Given the description of an element on the screen output the (x, y) to click on. 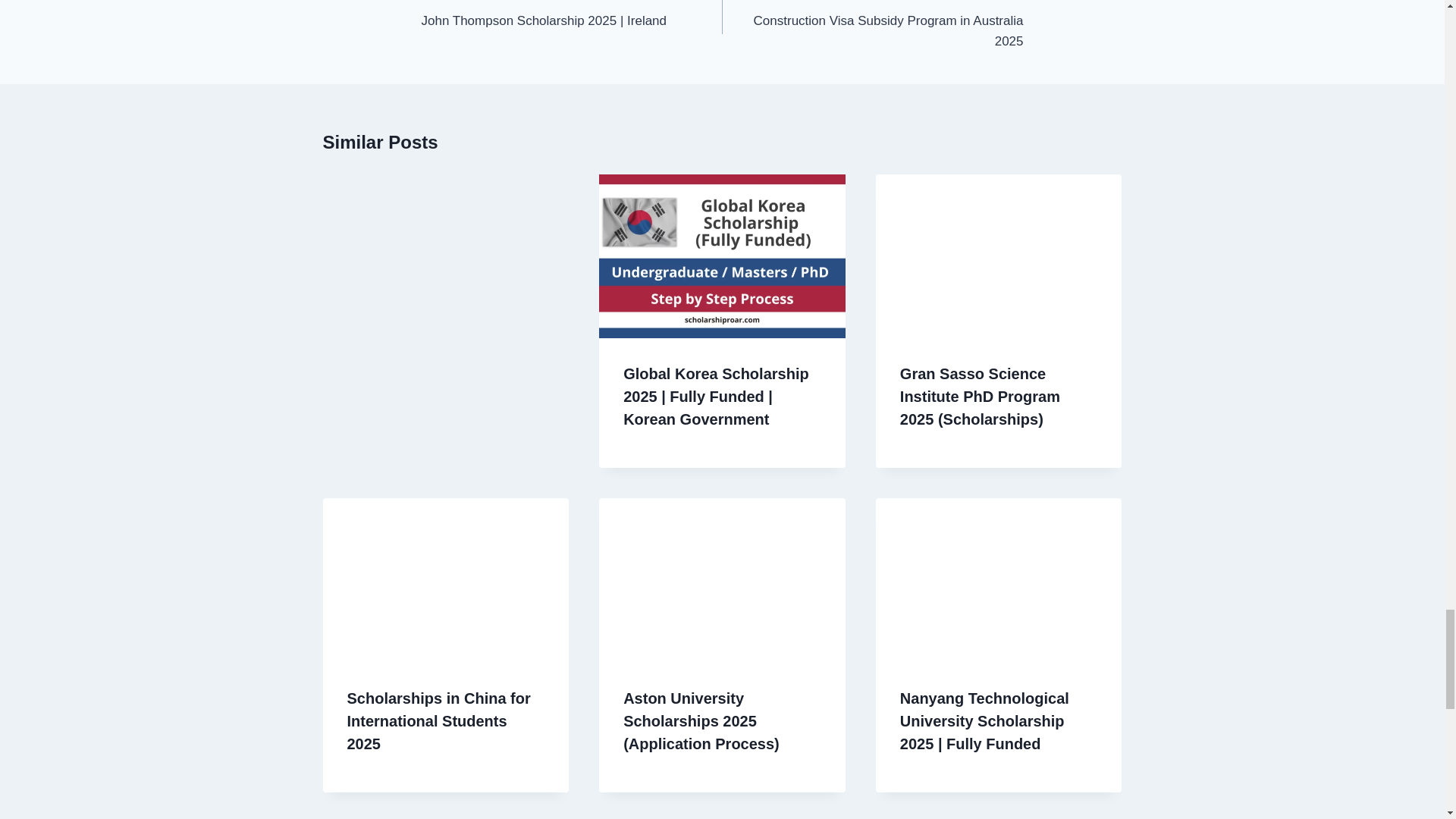
Scholarships in China for International Students 2025 (872, 25)
